Given the description of an element on the screen output the (x, y) to click on. 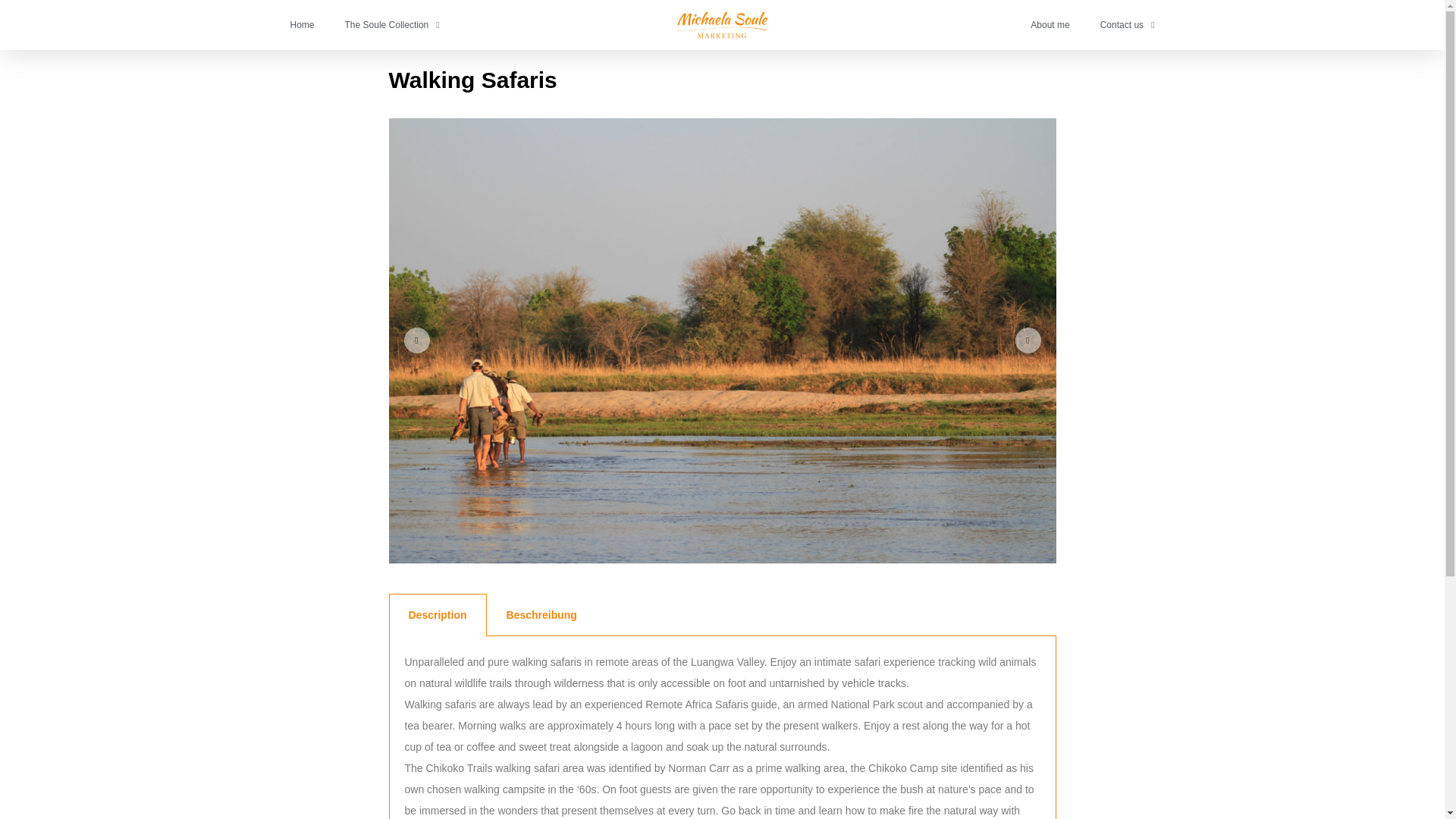
The Soule Collection (392, 24)
About me (1049, 24)
Contact us (1127, 24)
Home (302, 24)
